Given the description of an element on the screen output the (x, y) to click on. 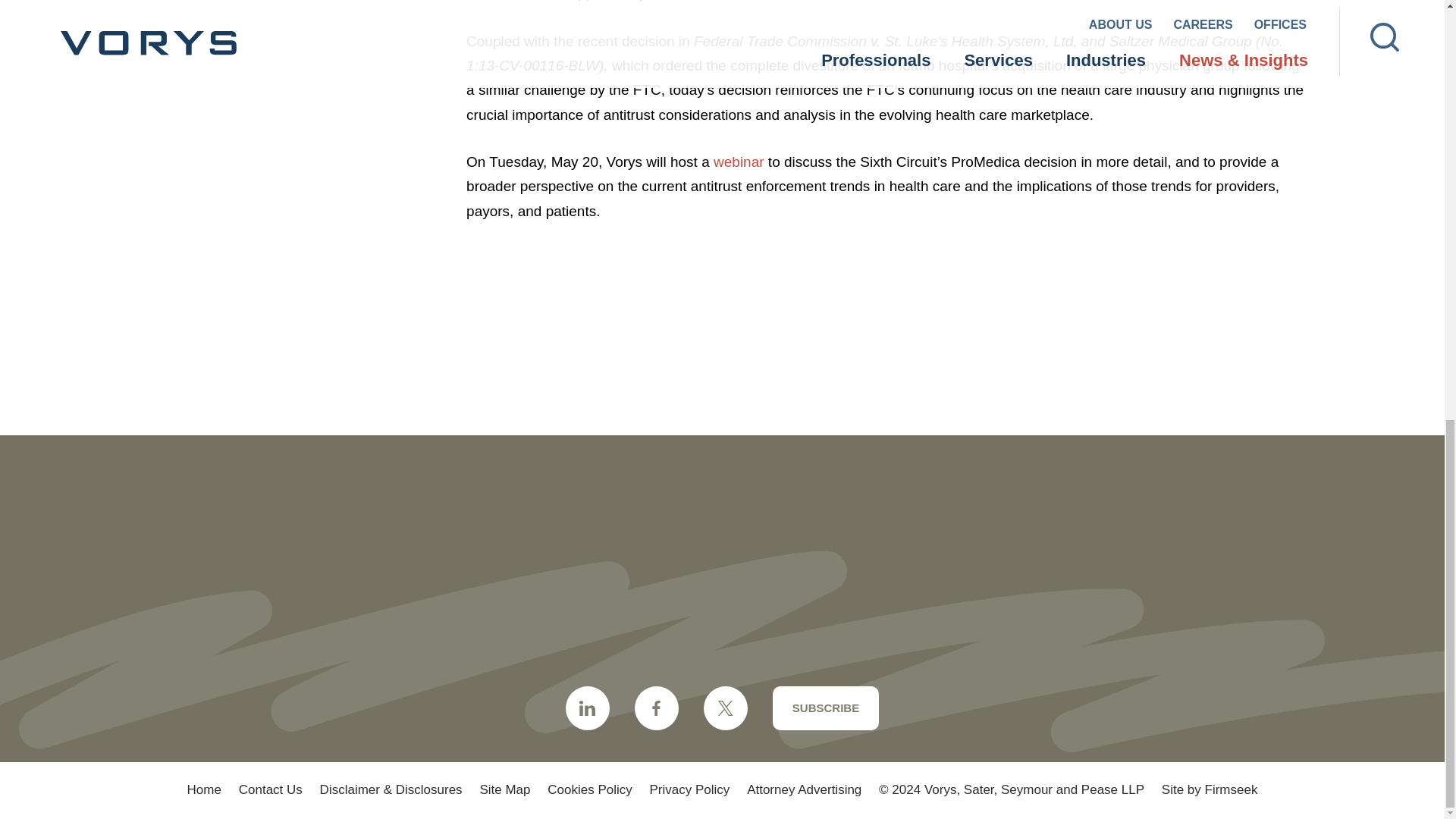
Facebook Icon (656, 708)
Linkedin Icon (588, 708)
